Given the description of an element on the screen output the (x, y) to click on. 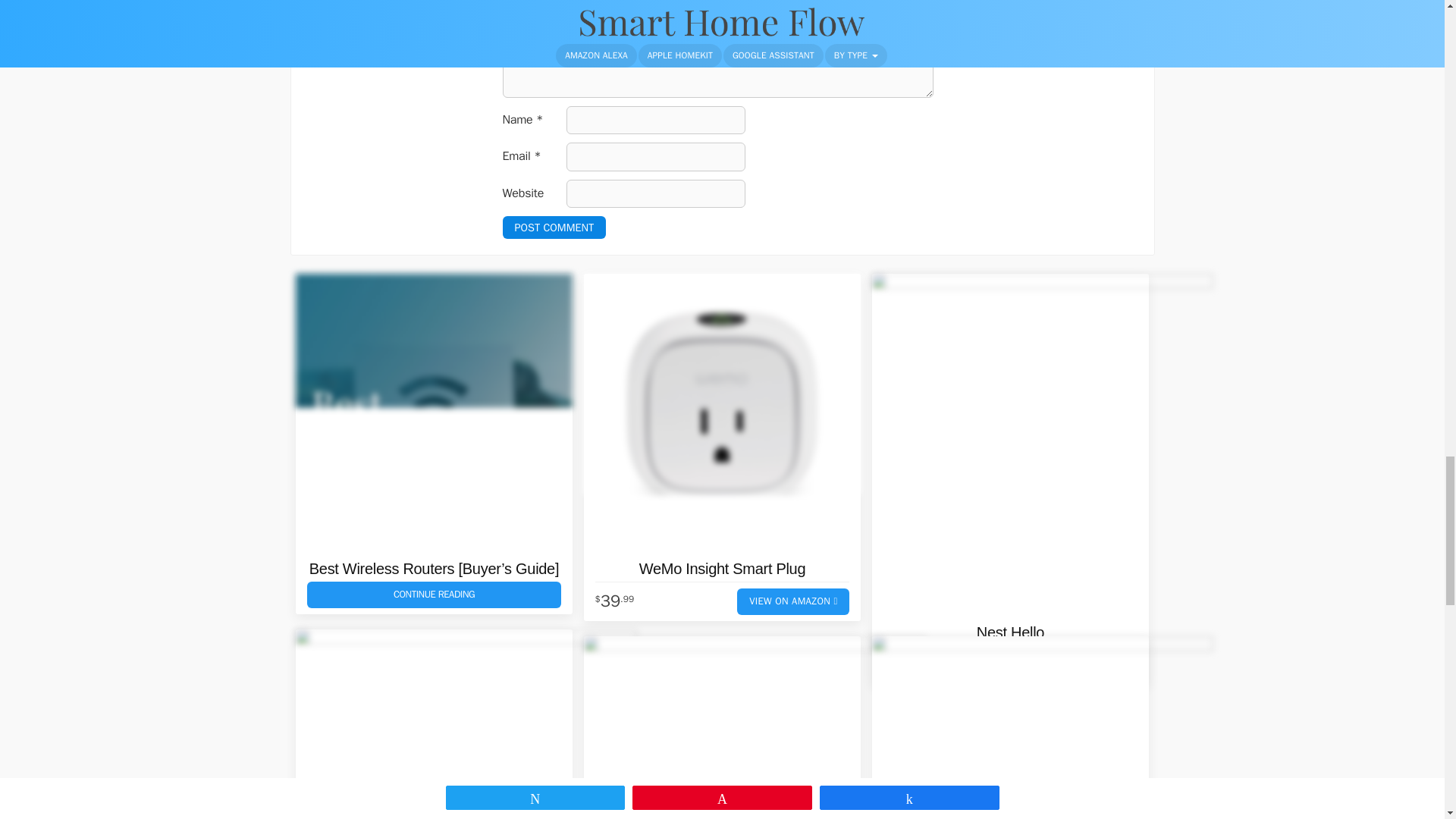
CONTINUE READING (432, 594)
Post Comment (553, 227)
WeMo Insight Smart Plug (722, 412)
Post Comment (553, 227)
